Given the description of an element on the screen output the (x, y) to click on. 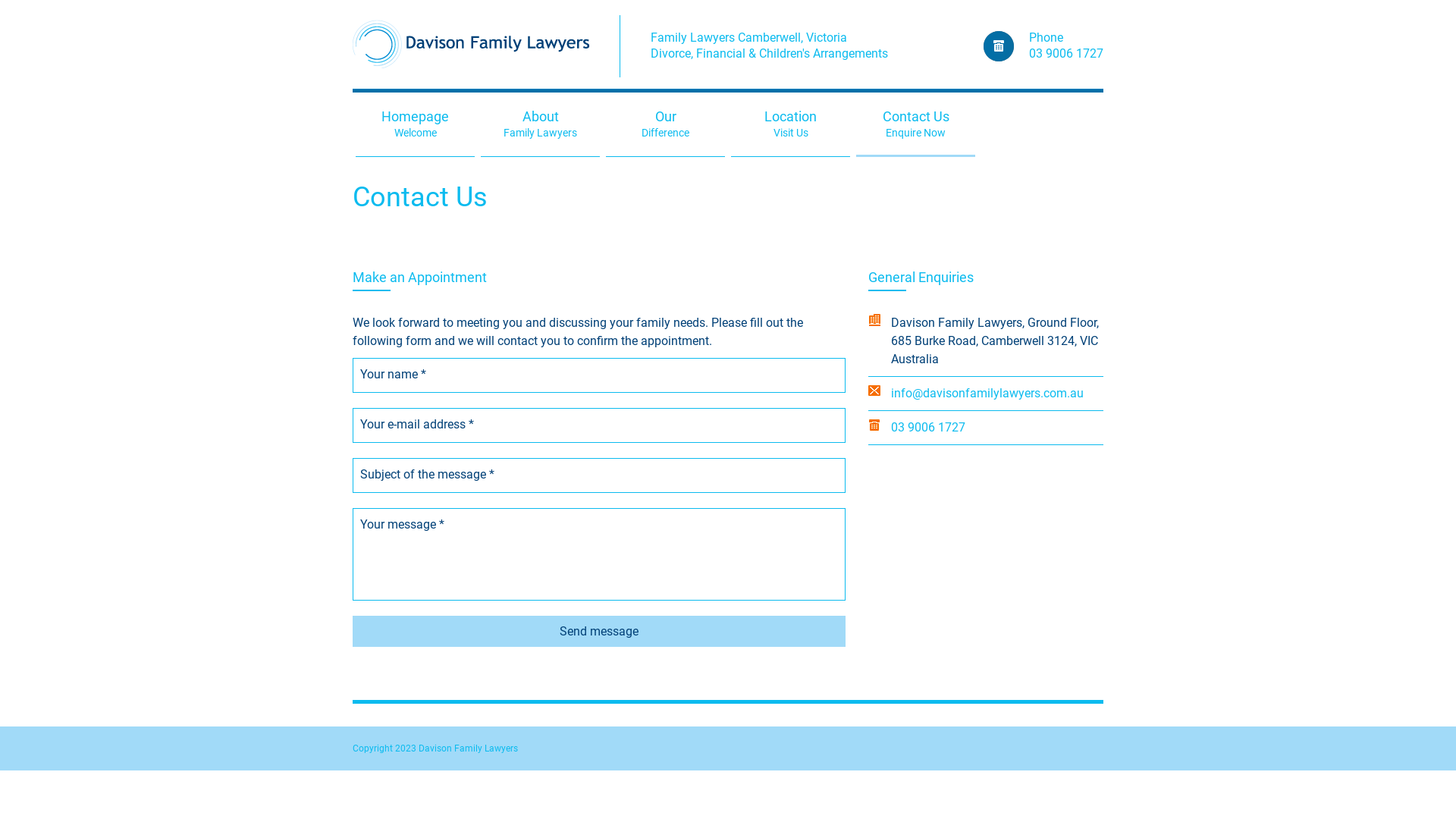
Our
Difference Element type: text (664, 124)
Send message Element type: text (598, 630)
03 9006 1727 Element type: text (928, 427)
info@davisonfamilylawyers.com.au Element type: text (987, 392)
Location
Visit Us Element type: text (790, 124)
Contact Us
Enquire Now Element type: text (915, 124)
Homepage
Welcome Element type: text (414, 124)
About
Family Lawyers Element type: text (539, 124)
03 9006 1727 Element type: text (1066, 53)
